Given the description of an element on the screen output the (x, y) to click on. 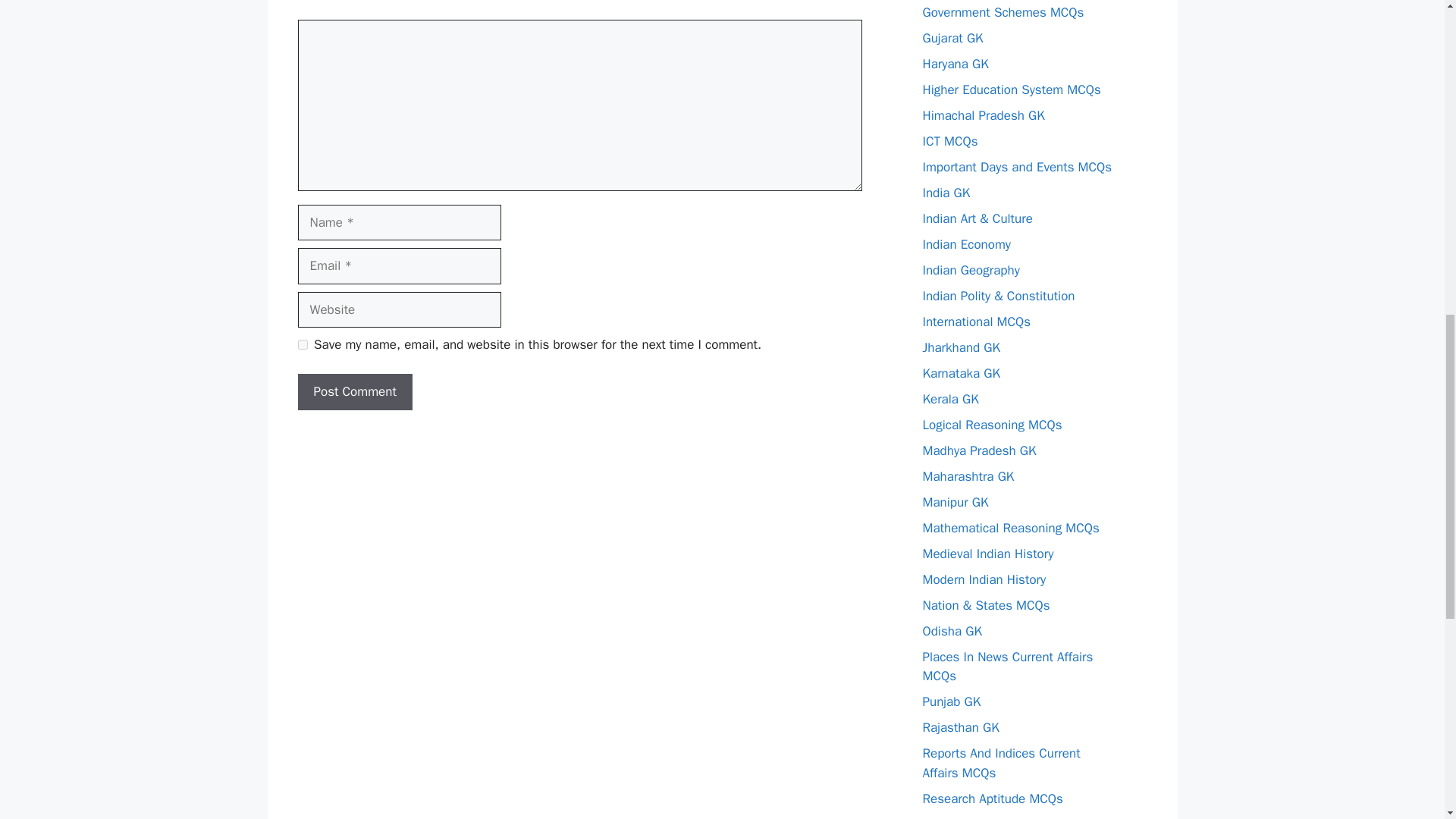
Post Comment (354, 391)
Scroll back to top (1406, 720)
yes (302, 344)
